Given the description of an element on the screen output the (x, y) to click on. 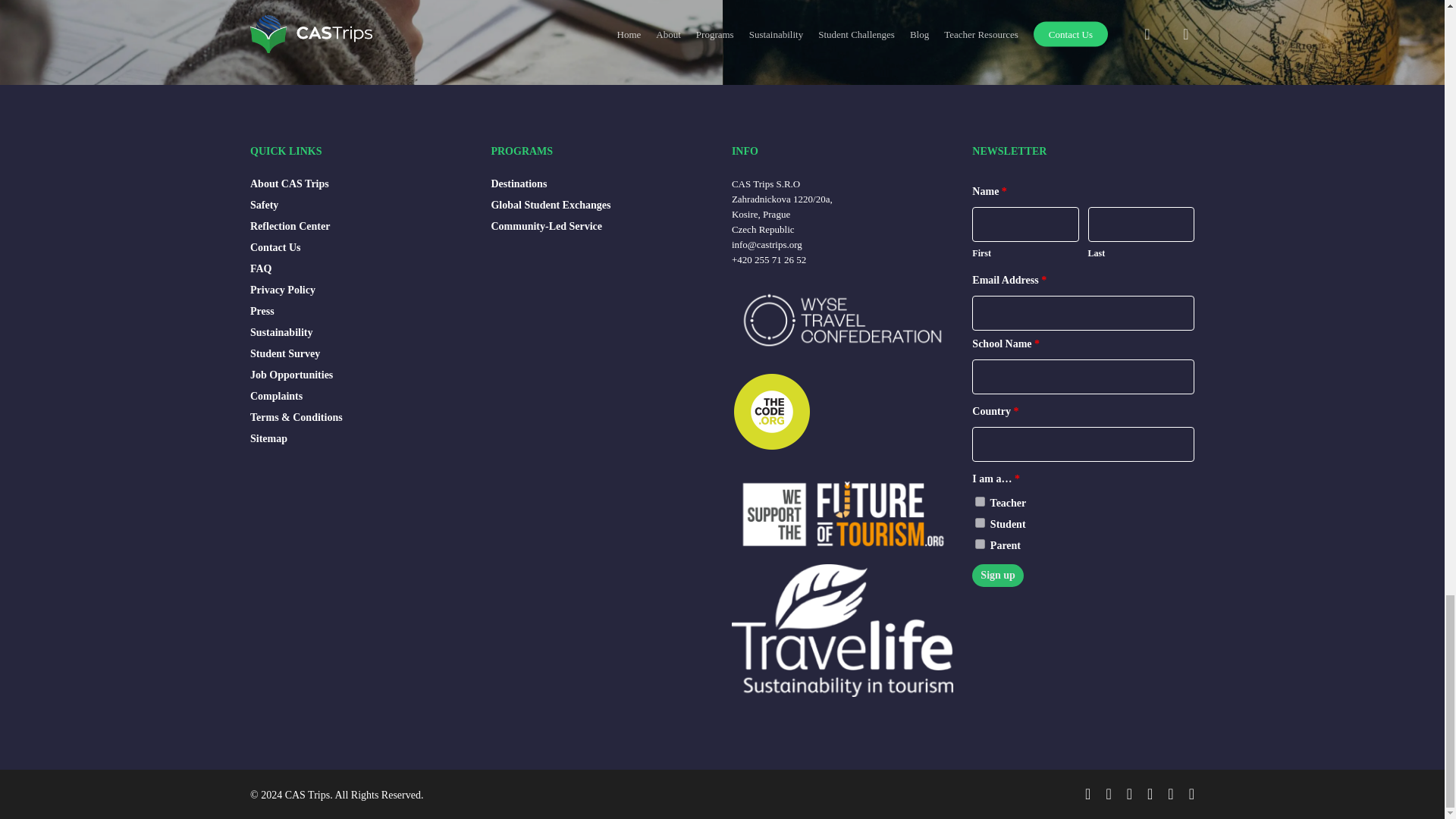
Sign up (997, 575)
student (980, 522)
parent (980, 543)
teacher (980, 501)
